Given the description of an element on the screen output the (x, y) to click on. 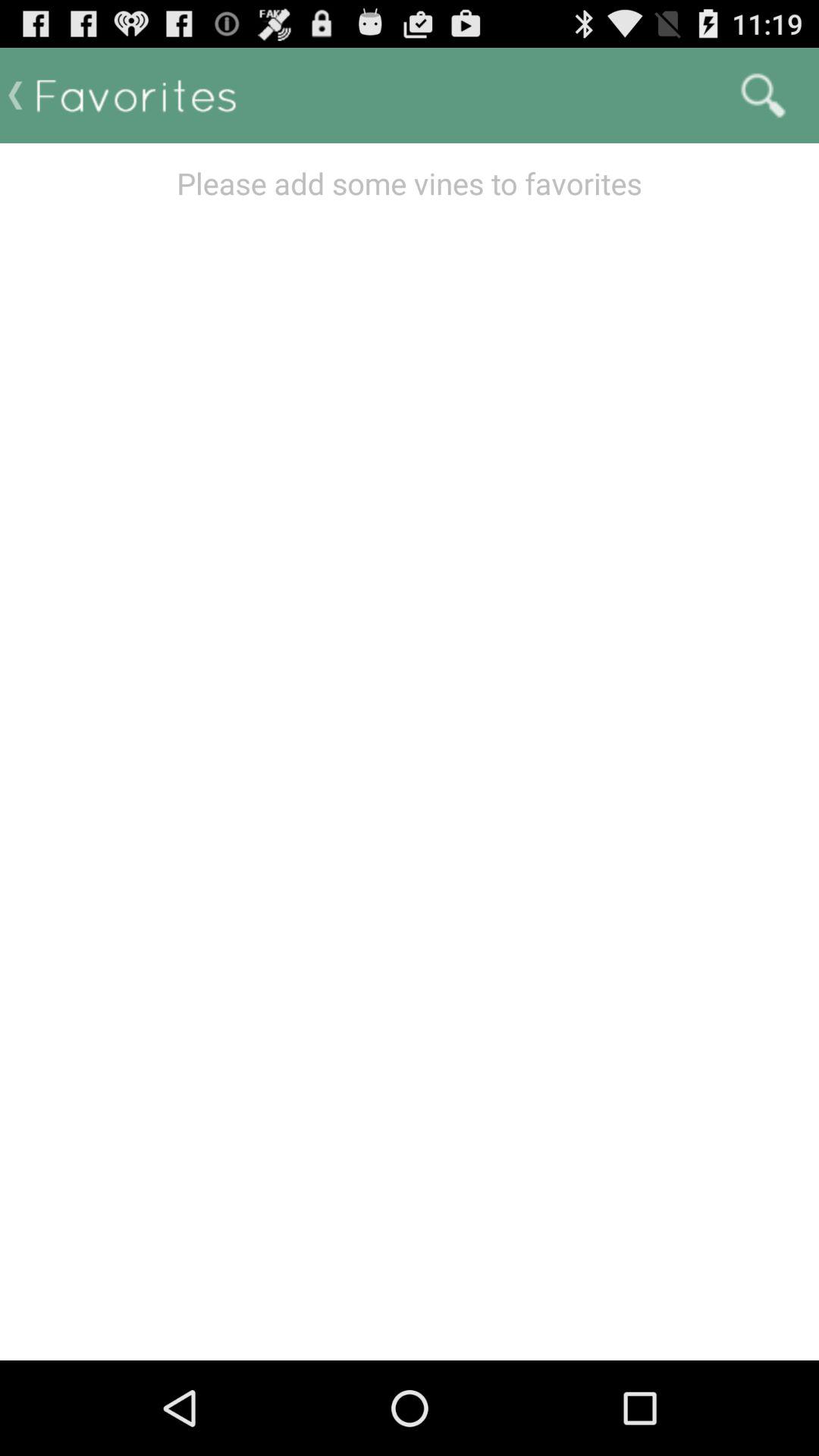
tap icon at the top right corner (763, 95)
